Given the description of an element on the screen output the (x, y) to click on. 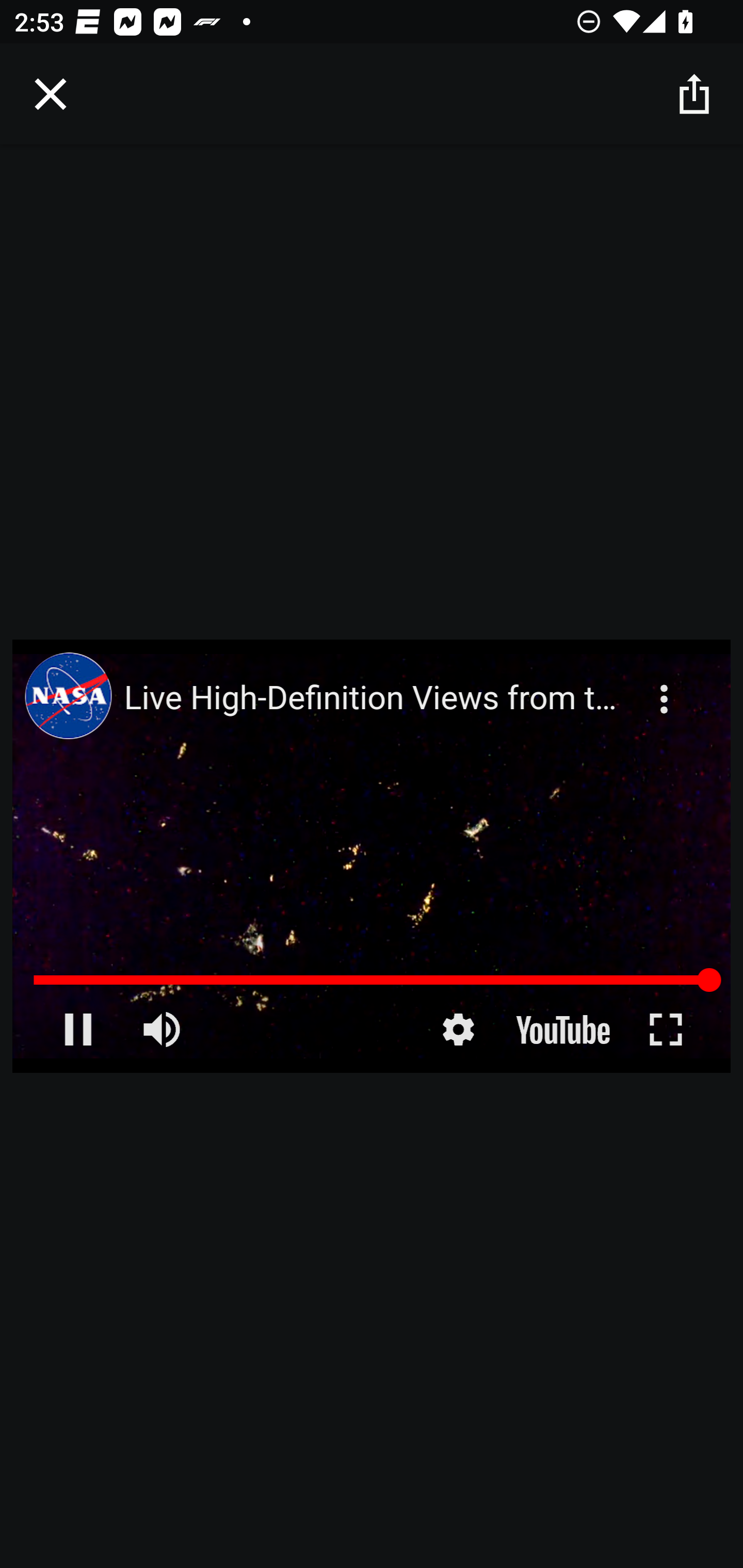
More (666, 687)
Photo image of NASA (67, 695)
Pause (77, 1030)
Mute (164, 1030)
Settings (458, 1030)
Watch on YouTube (560, 1030)
Full screen (666, 1030)
